Given the description of an element on the screen output the (x, y) to click on. 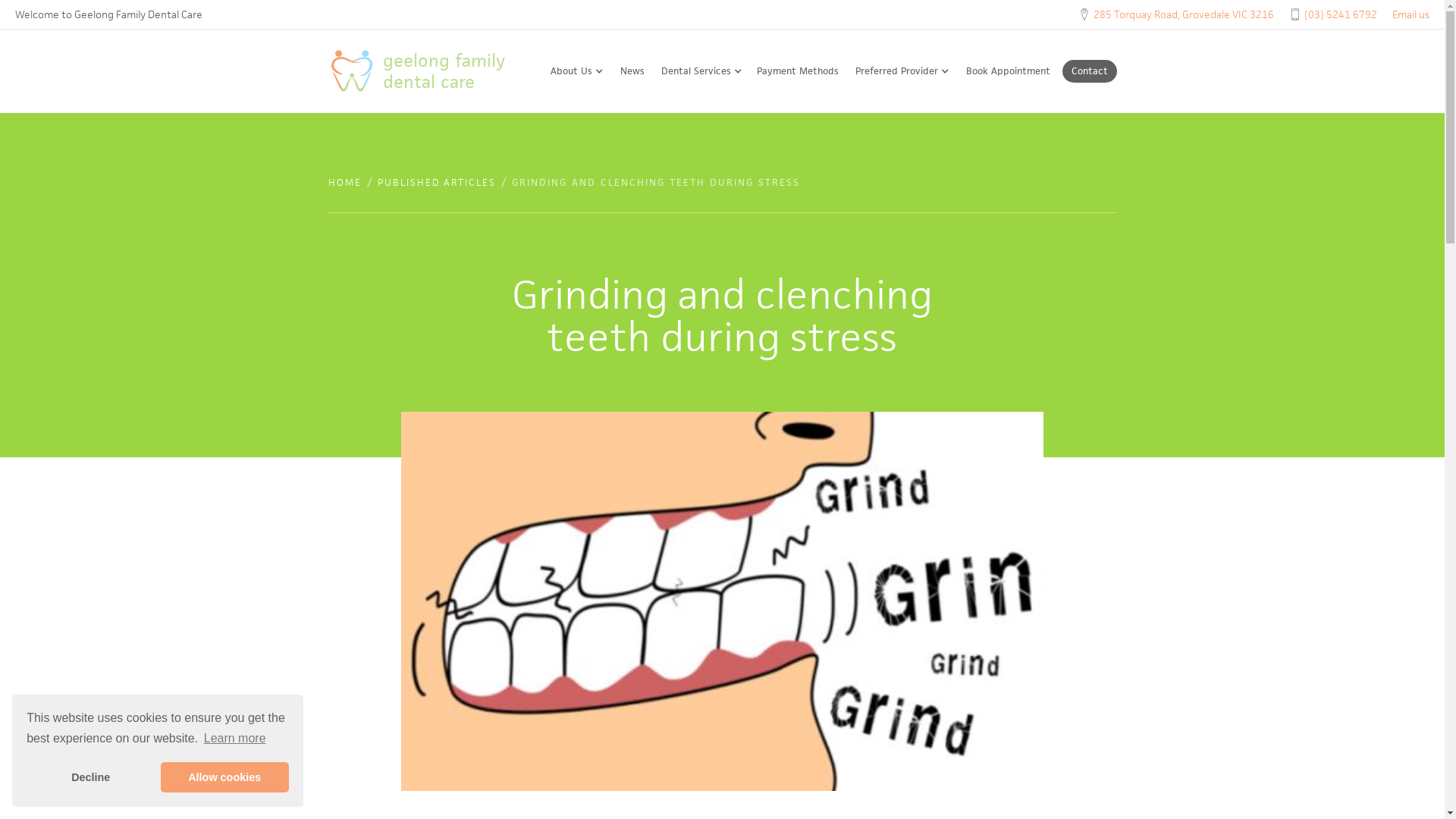
HOME Element type: text (343, 182)
PUBLISHED ARTICLES Element type: text (436, 182)
Decline Element type: text (90, 777)
News Element type: text (631, 70)
Learn more Element type: text (234, 738)
Book Appointment Element type: text (1007, 70)
Payment Methods Element type: text (796, 70)
Contact Element type: text (1088, 70)
Allow cookies Element type: text (224, 777)
Email us Element type: text (1410, 14)
(03) 5241 6792 Element type: text (1340, 14)
geelong family
dental care Element type: text (430, 70)
GRINDING AND CLENCHING TEETH DURING STRESS Element type: text (655, 182)
285 Torquay Road, Grovedale VIC 3216 Element type: text (1183, 14)
